Given the description of an element on the screen output the (x, y) to click on. 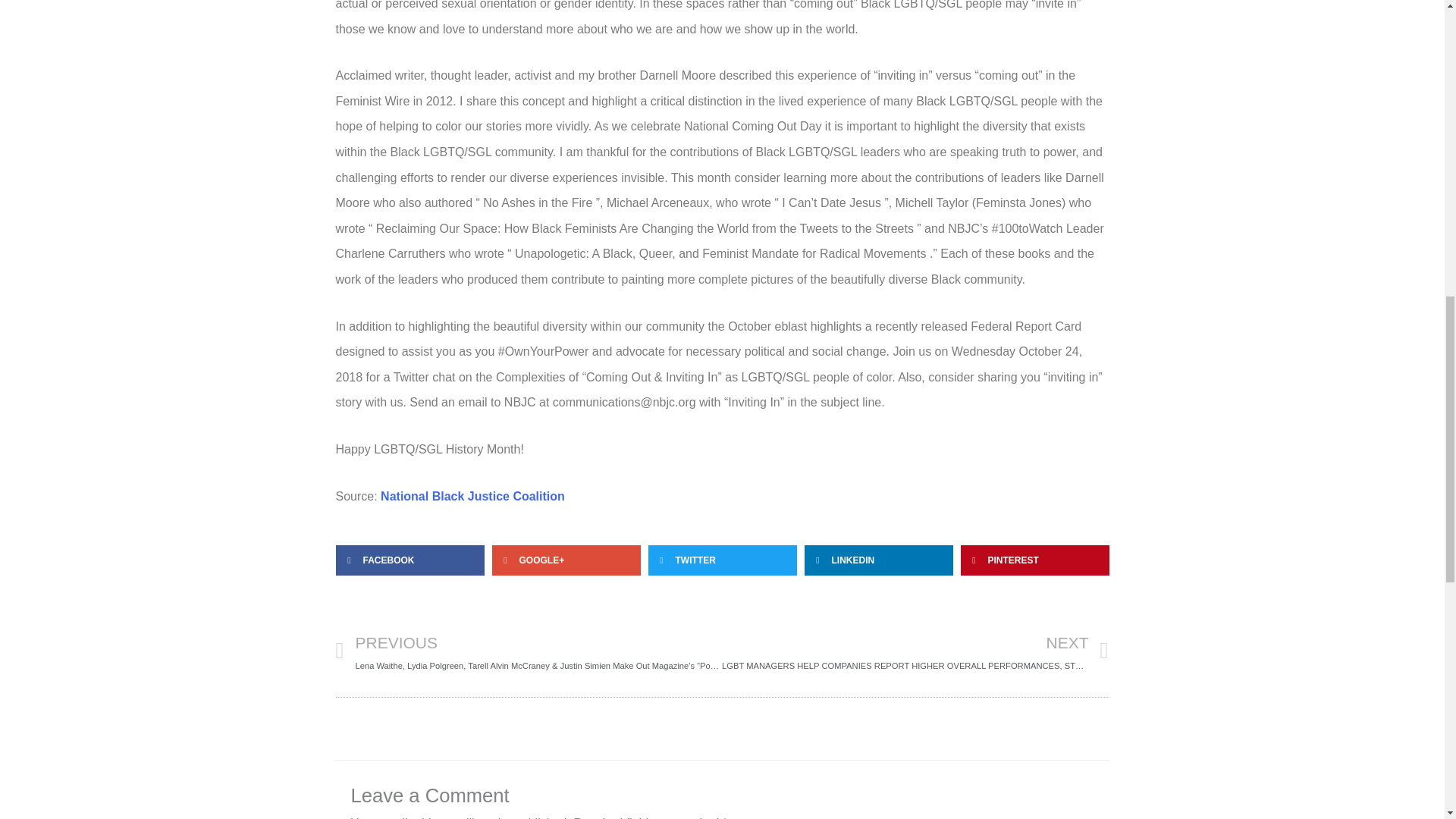
National Black Justice Coalition (472, 495)
